Given the description of an element on the screen output the (x, y) to click on. 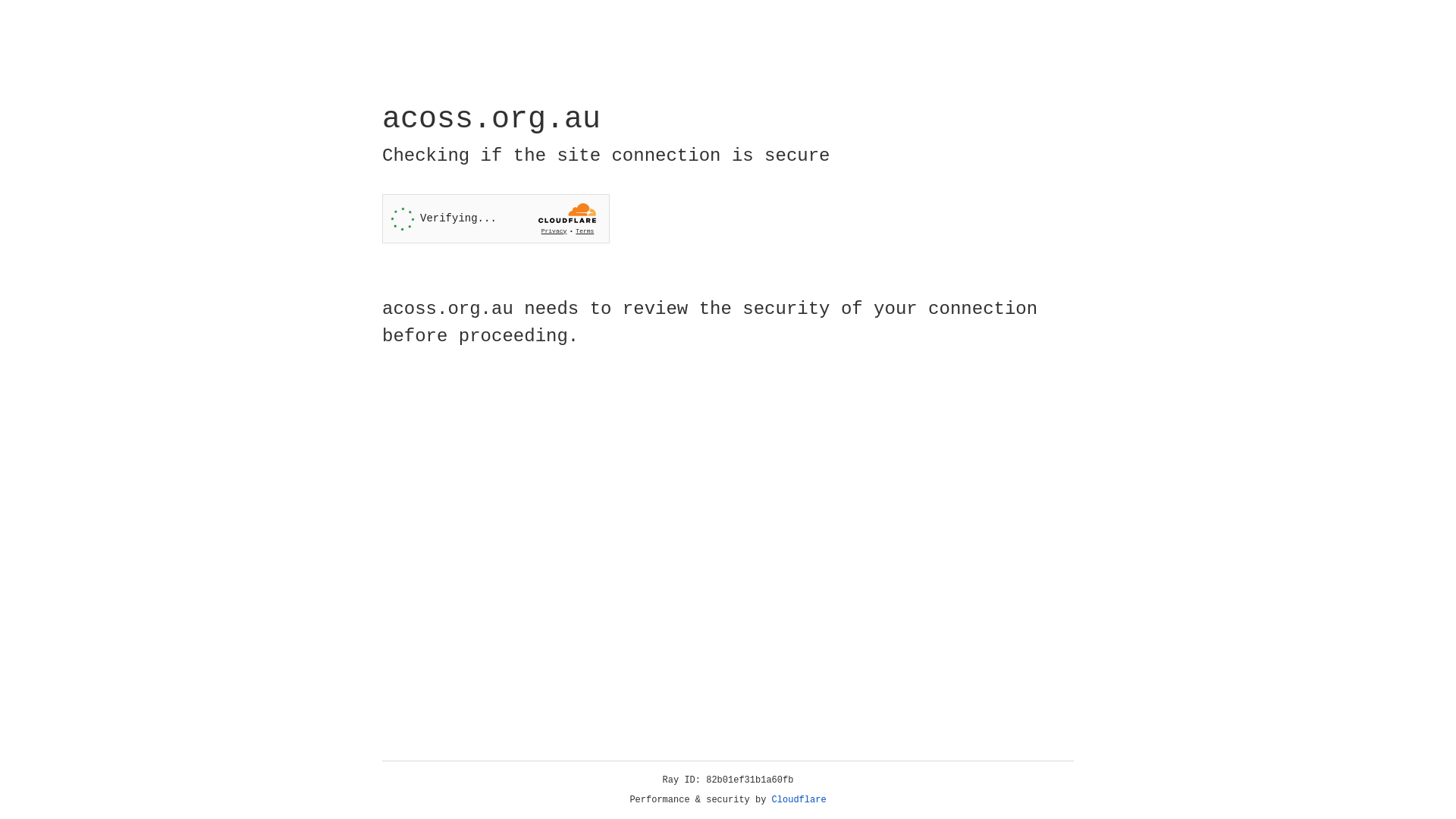
Widget containing a Cloudflare security challenge Element type: hover (495, 218)
Cloudflare Element type: text (798, 799)
